Given the description of an element on the screen output the (x, y) to click on. 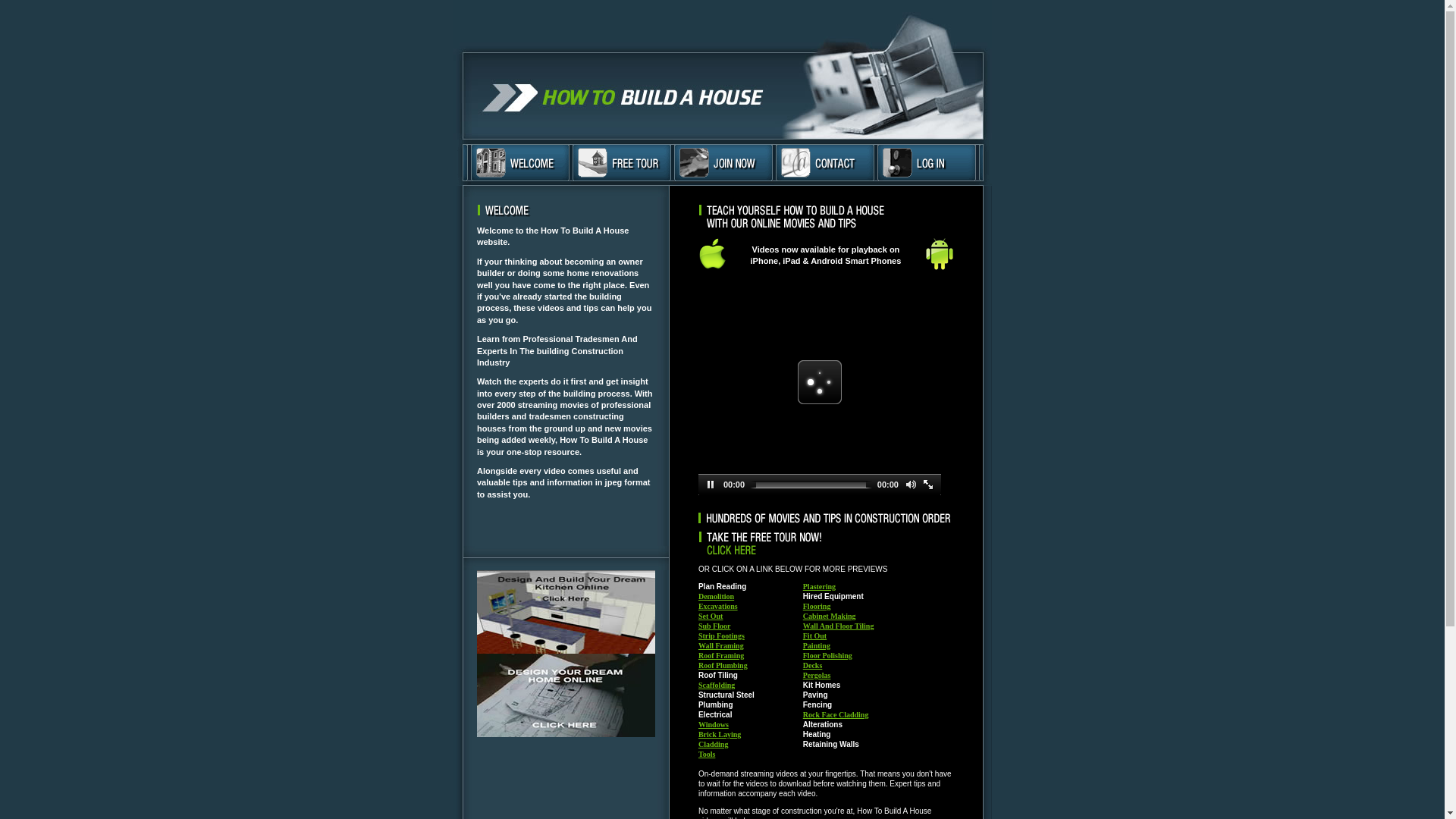
Decks Element type: text (812, 665)
Painting Element type: text (816, 645)
Brick Laying Element type: text (719, 734)
Cladding Element type: text (713, 744)
Cabinet Making Element type: text (829, 615)
Sub Floor Element type: text (714, 625)
Strip Footings Element type: text (721, 635)
Scaffolding Element type: text (716, 684)
Set Out Element type: text (710, 615)
Tools Element type: text (706, 753)
Plastering Element type: text (819, 586)
Pergolas Element type: text (817, 675)
Rock Face Cladding Element type: text (836, 714)
Windows Element type: text (713, 724)
Flooring Element type: text (817, 606)
Demolition Element type: text (716, 596)
Wall Framing Element type: text (720, 645)
Floor Polishing Element type: text (827, 655)
Fit Out Element type: text (814, 635)
Wall And Floor Tiling Element type: text (838, 625)
Roof Plumbing Element type: text (722, 665)
Roof Framing Element type: text (720, 655)
Excavations Element type: text (717, 606)
